Given the description of an element on the screen output the (x, y) to click on. 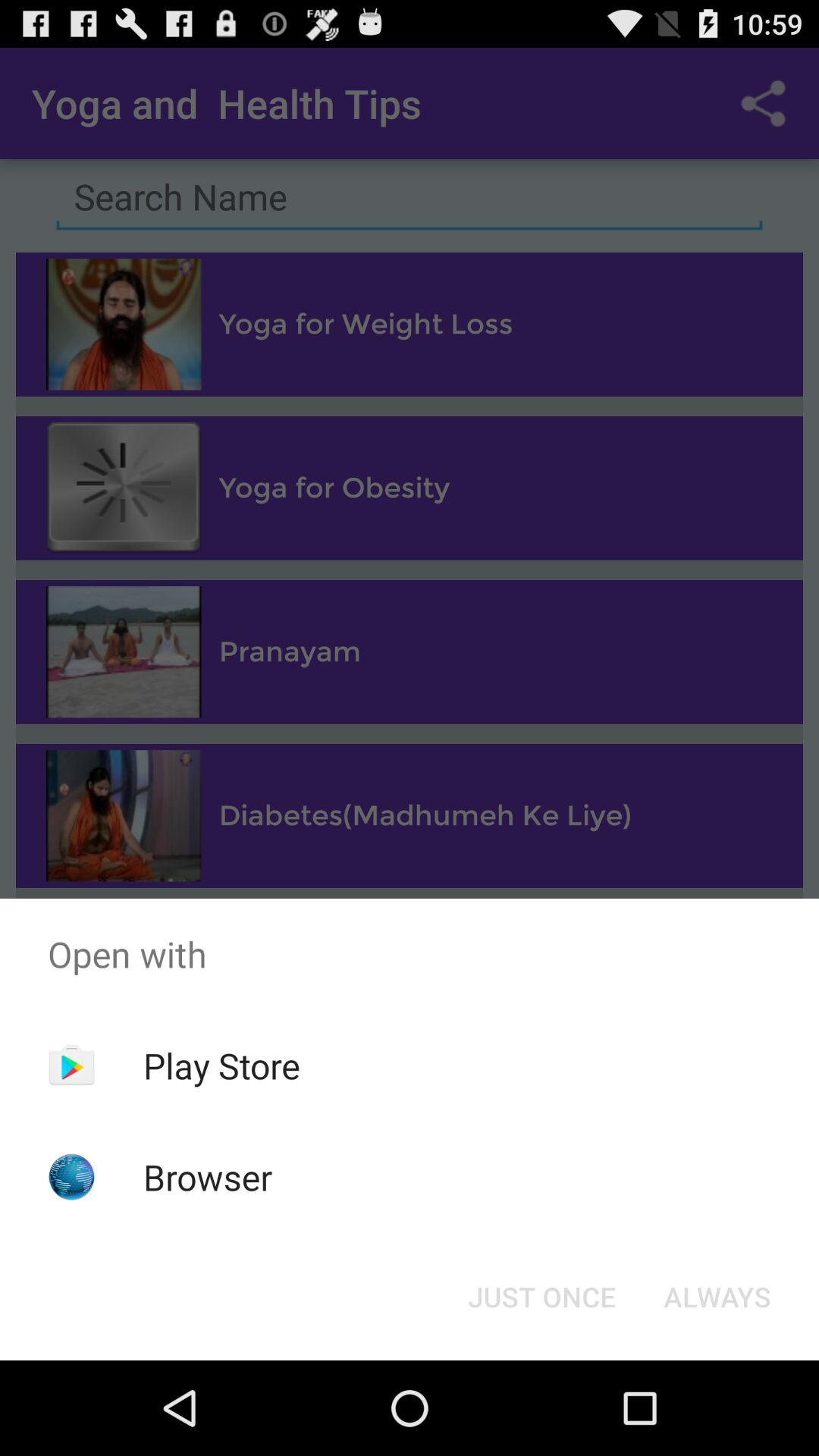
tap the icon below the open with app (221, 1065)
